Given the description of an element on the screen output the (x, y) to click on. 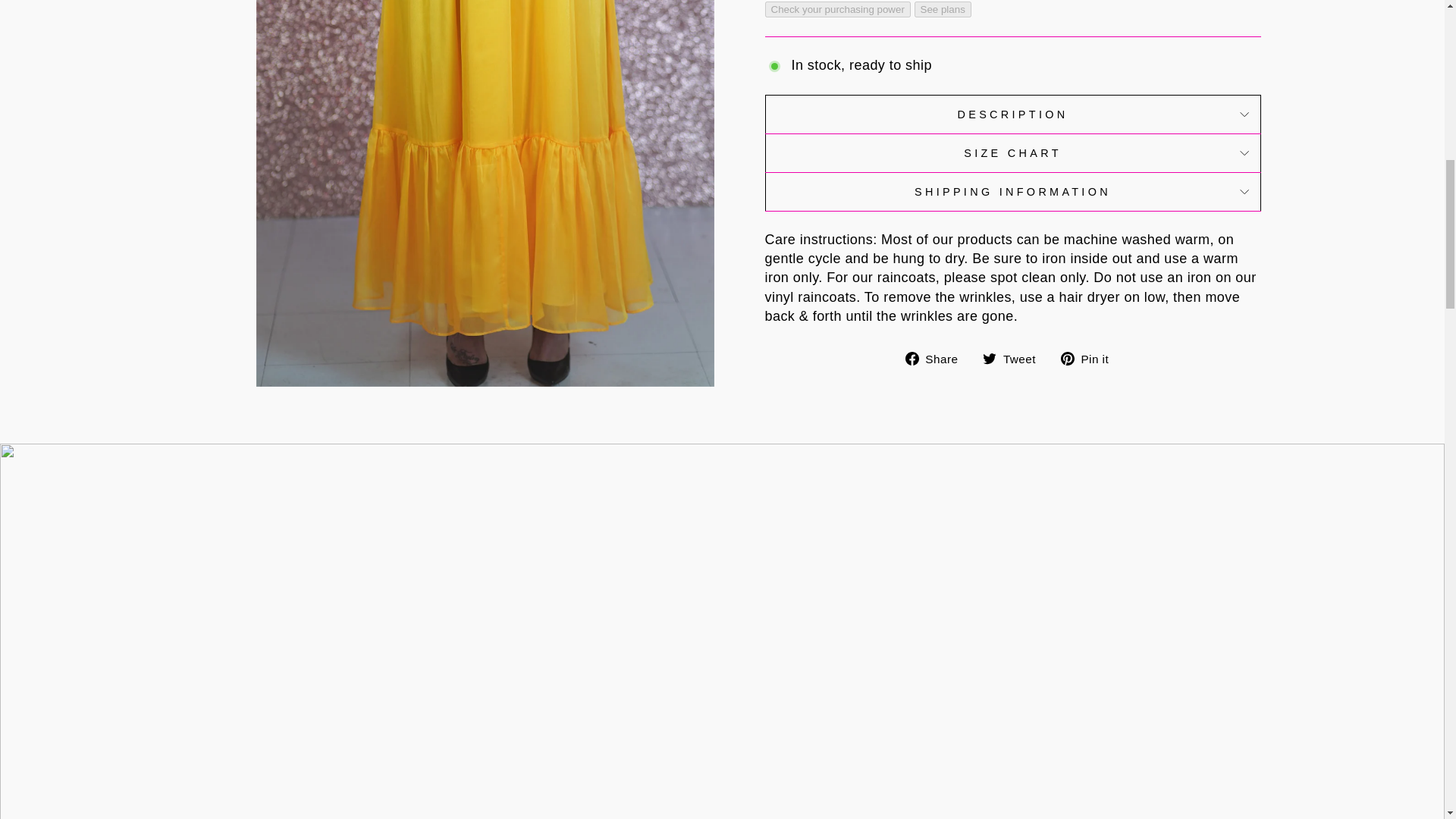
Pin on Pinterest (1090, 357)
Share on Facebook (937, 357)
twitter (988, 358)
Tweet on Twitter (1014, 357)
